Given the description of an element on the screen output the (x, y) to click on. 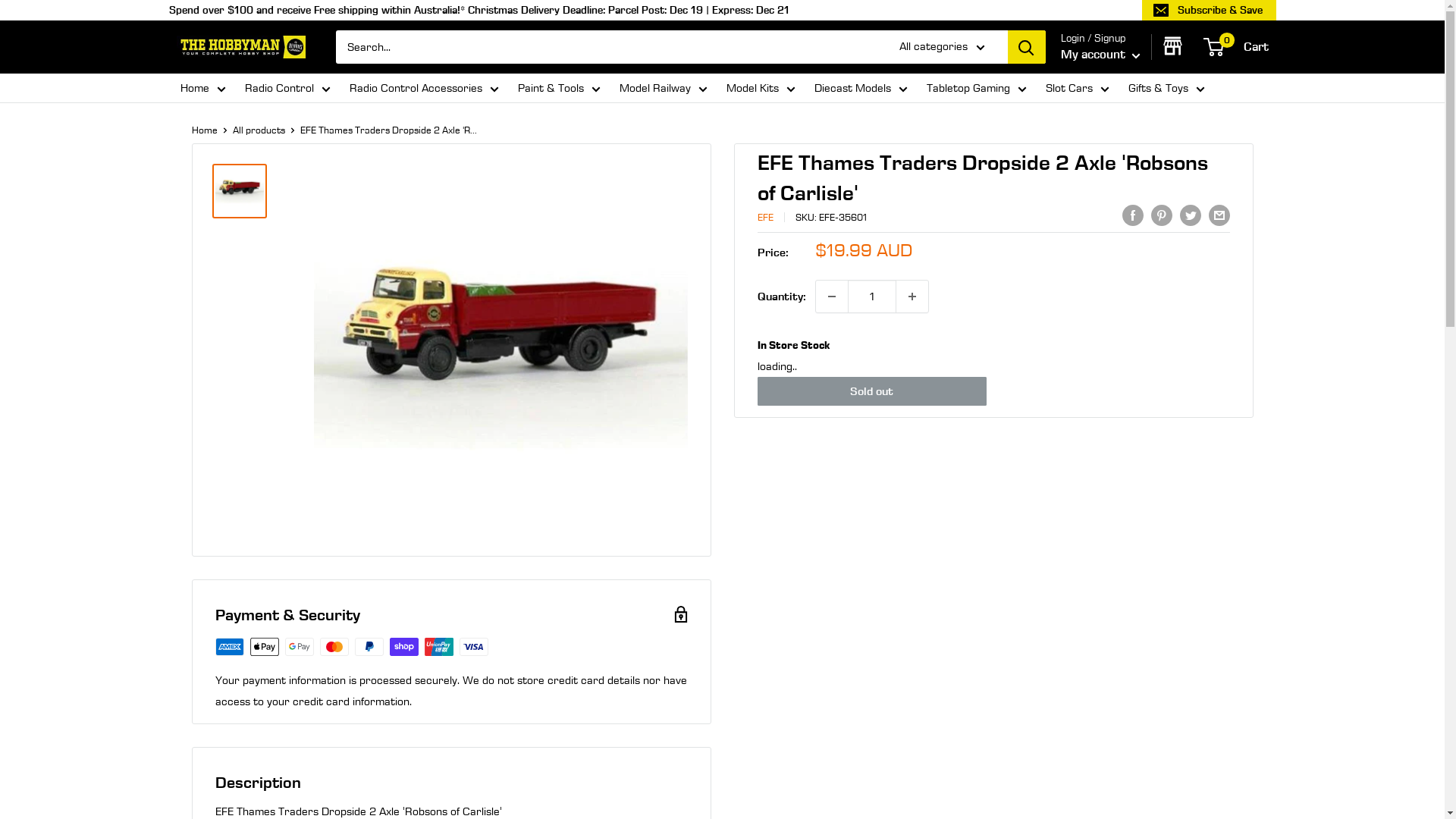
Gifts & Toys Element type: text (1166, 87)
Home Element type: text (203, 129)
All products Element type: text (258, 129)
Tabletop Gaming Element type: text (976, 87)
Sold out Element type: text (871, 390)
0
Cart Element type: text (1235, 46)
Paint & Tools Element type: text (558, 87)
Home Element type: text (202, 87)
Increase quantity by 1 Element type: hover (912, 296)
Model Railway Element type: text (662, 87)
Slot Cars Element type: text (1076, 87)
My account Element type: text (1099, 54)
EFE Element type: text (764, 216)
Radio Control Accessories Element type: text (423, 87)
Diecast Models Element type: text (860, 87)
Subscribe & Save Element type: text (1209, 9)
Radio Control Element type: text (286, 87)
Decrease quantity by 1 Element type: hover (831, 296)
Model Kits Element type: text (760, 87)
